Given the description of an element on the screen output the (x, y) to click on. 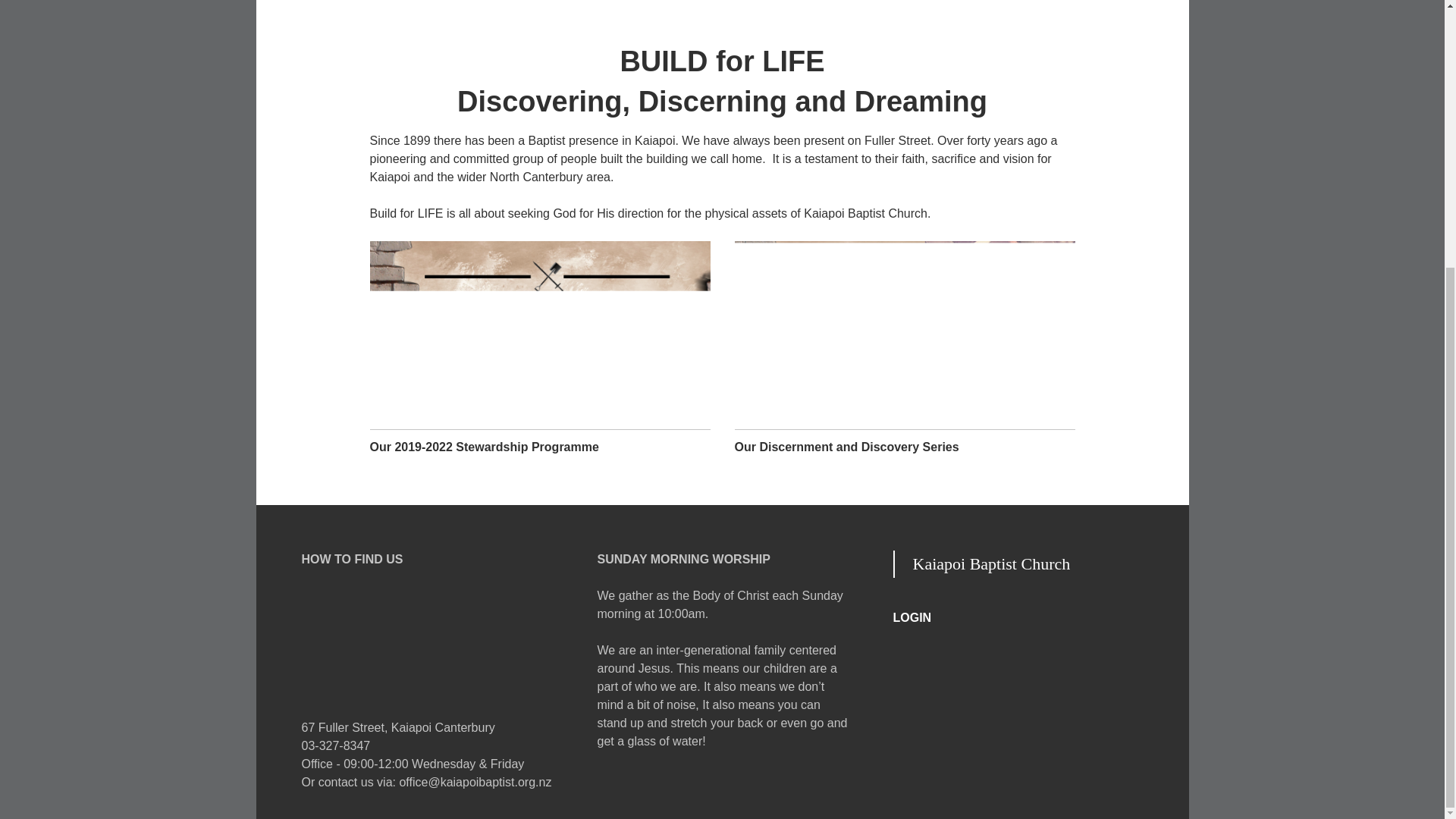
Kaiapoi Baptist Church (991, 563)
LOGIN (1017, 618)
